Given the description of an element on the screen output the (x, y) to click on. 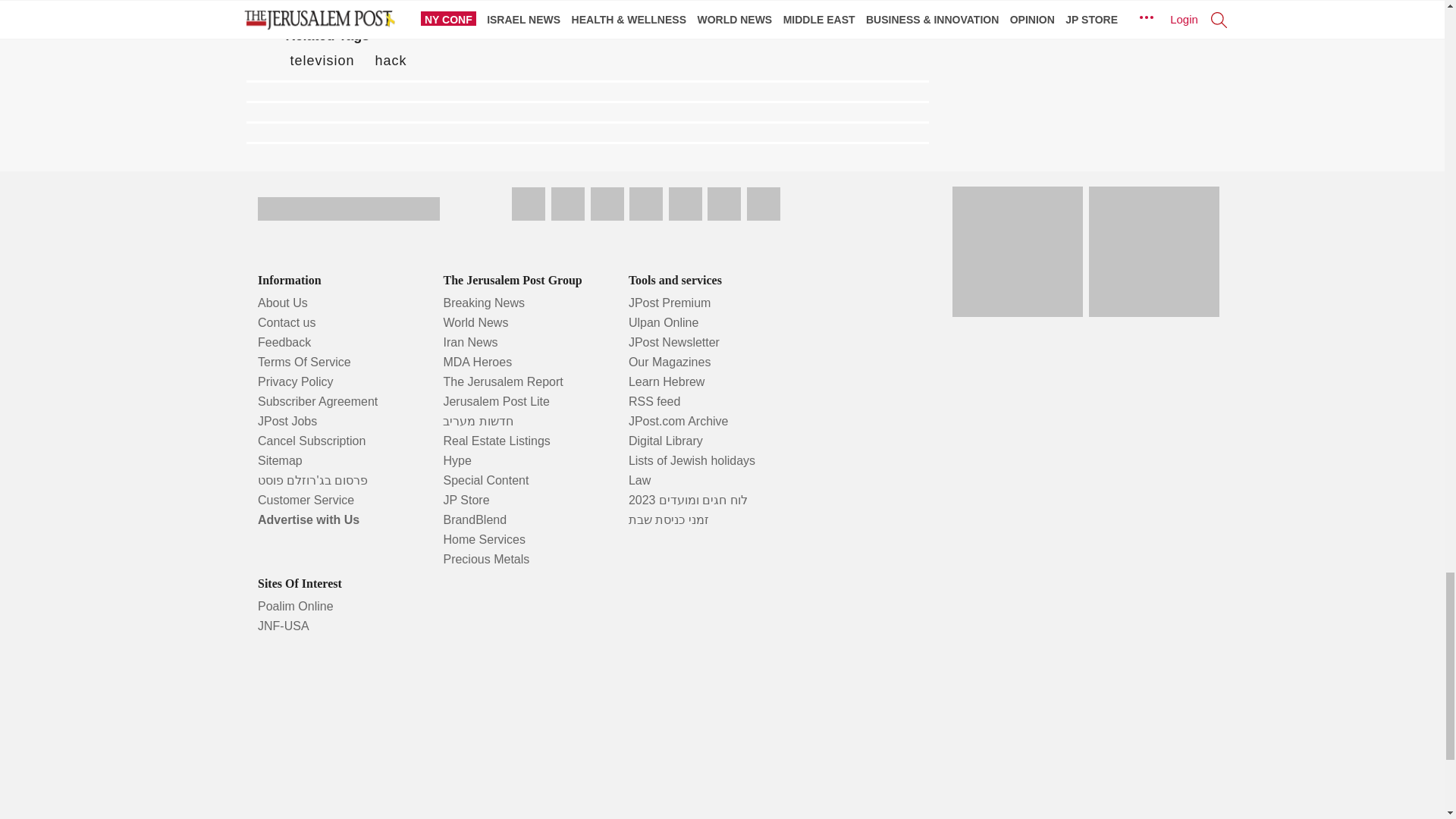
television (321, 60)
television (321, 60)
hack (391, 60)
hack (391, 60)
